Given the description of an element on the screen output the (x, y) to click on. 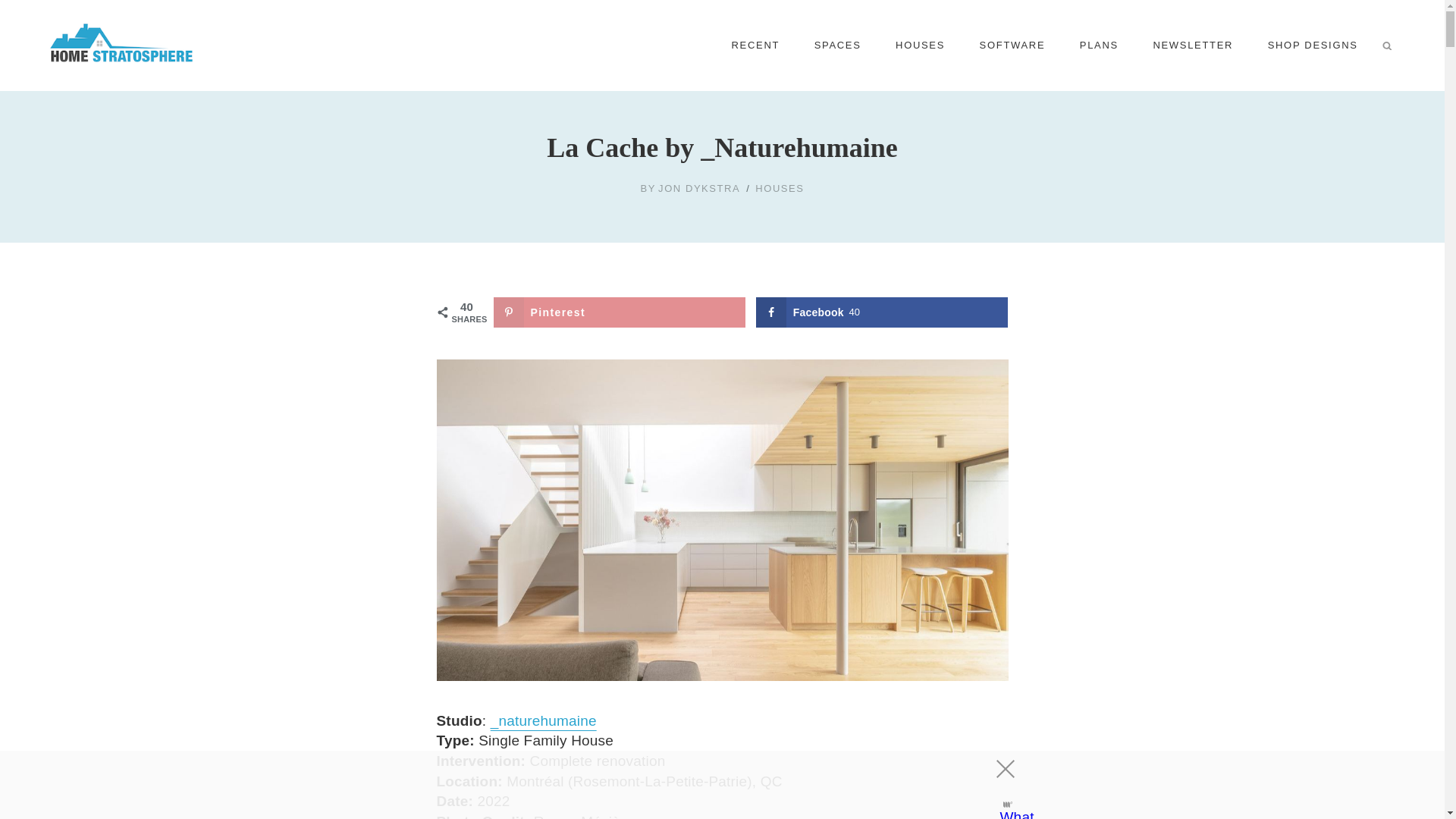
Share on Facebook (882, 312)
SPACES (836, 45)
RECENT (755, 45)
Save to Pinterest (619, 312)
